Given the description of an element on the screen output the (x, y) to click on. 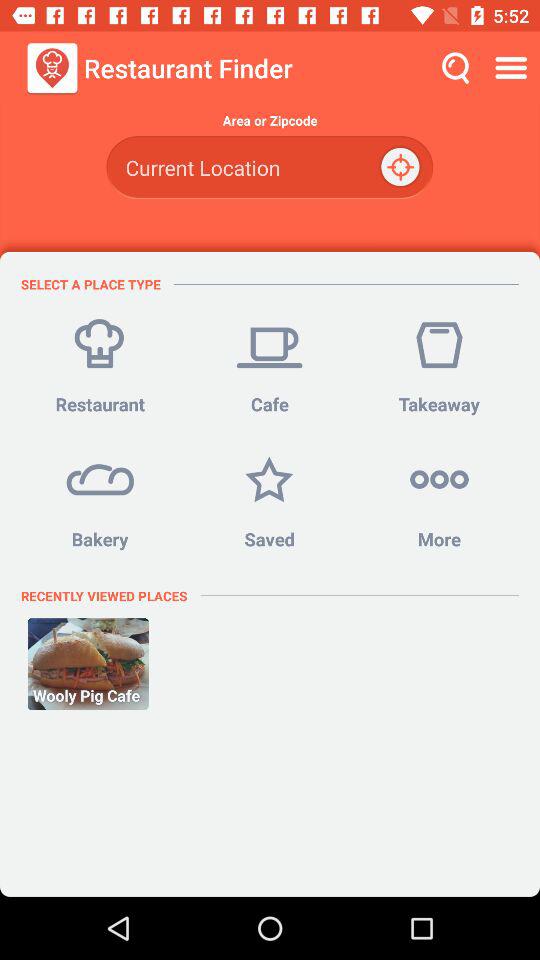
open icon above select a place (269, 167)
